Given the description of an element on the screen output the (x, y) to click on. 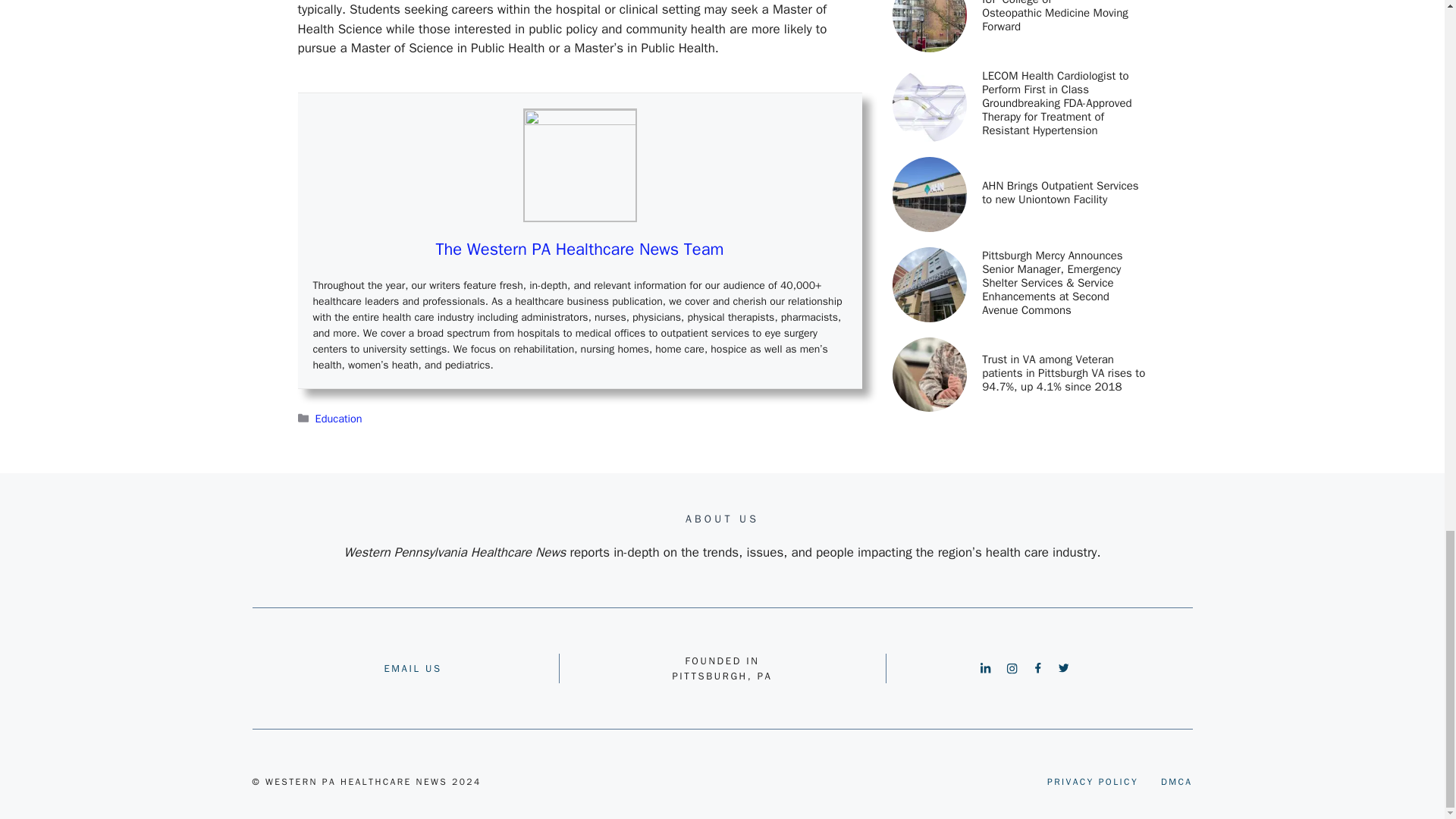
The Western PA Healthcare News Team (579, 249)
